Given the description of an element on the screen output the (x, y) to click on. 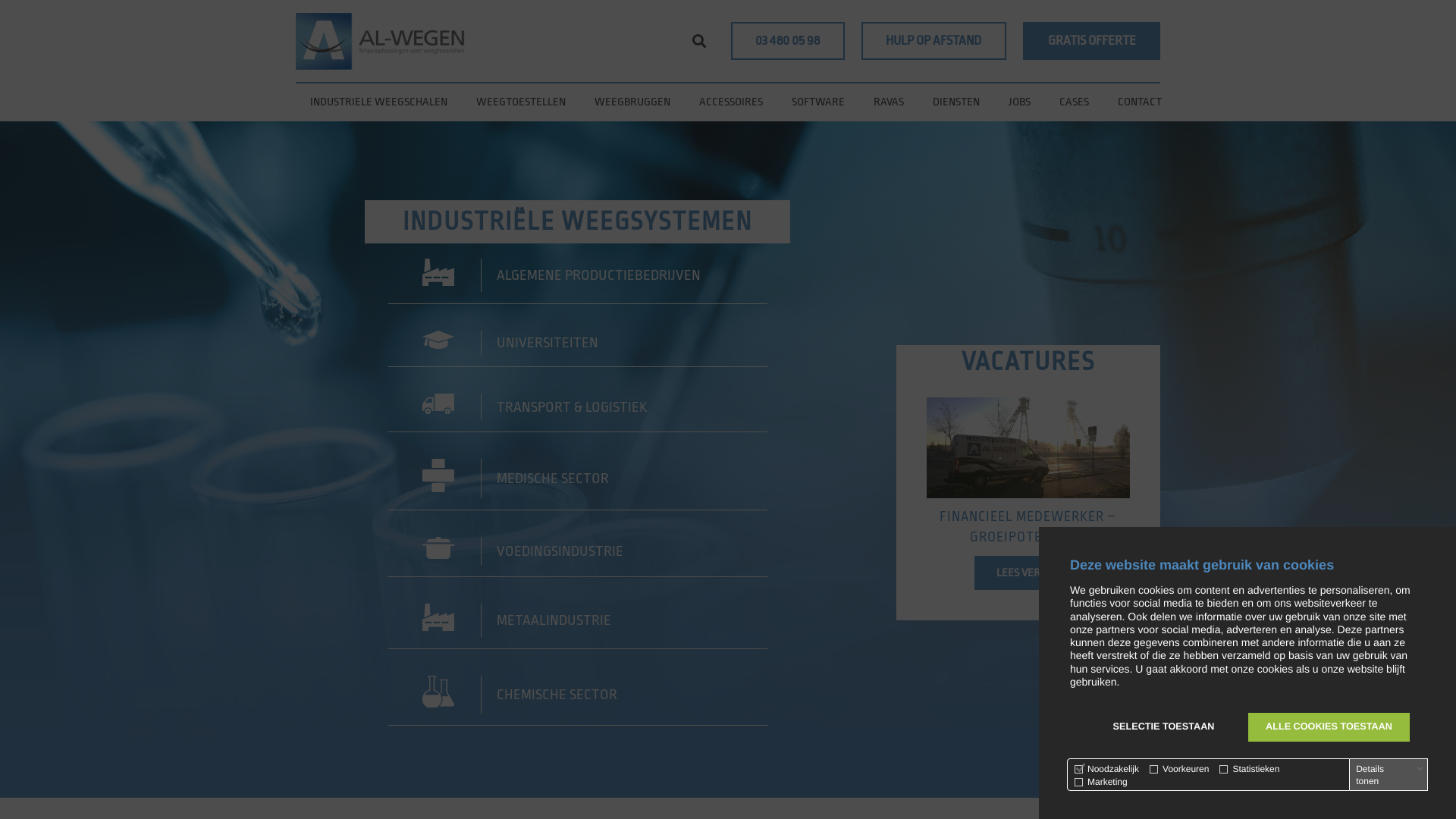
CASES Element type: text (1073, 102)
INDUSTRIELE WEEGSCHALEN Element type: text (378, 102)
WEEGBRUGGEN Element type: text (632, 102)
CONTACT Element type: text (1139, 102)
ACCESSOIRES Element type: text (730, 102)
JOBS Element type: text (1019, 102)
RAVAS Element type: text (888, 102)
SELECTIE TOESTAAN Element type: text (1163, 726)
METAALINDUSTRIE Element type: text (577, 626)
HULP OP AFSTAND Element type: text (933, 40)
DIENSTEN Element type: text (956, 102)
GRATIS OFFERTE Element type: text (1091, 40)
LEES VERDER Element type: text (1028, 572)
ALLE COOKIES TOESTAAN Element type: text (1328, 726)
Details tonen Element type: text (1389, 774)
VOEDINGSINDUSTRIE Element type: text (577, 556)
SOFTWARE Element type: text (818, 102)
WEEGTOESTELLEN Element type: text (520, 102)
ALGEMENE PRODUCTIEBEDRIJVEN Element type: text (577, 281)
03 480 05 98 Element type: text (787, 40)
